Given the description of an element on the screen output the (x, y) to click on. 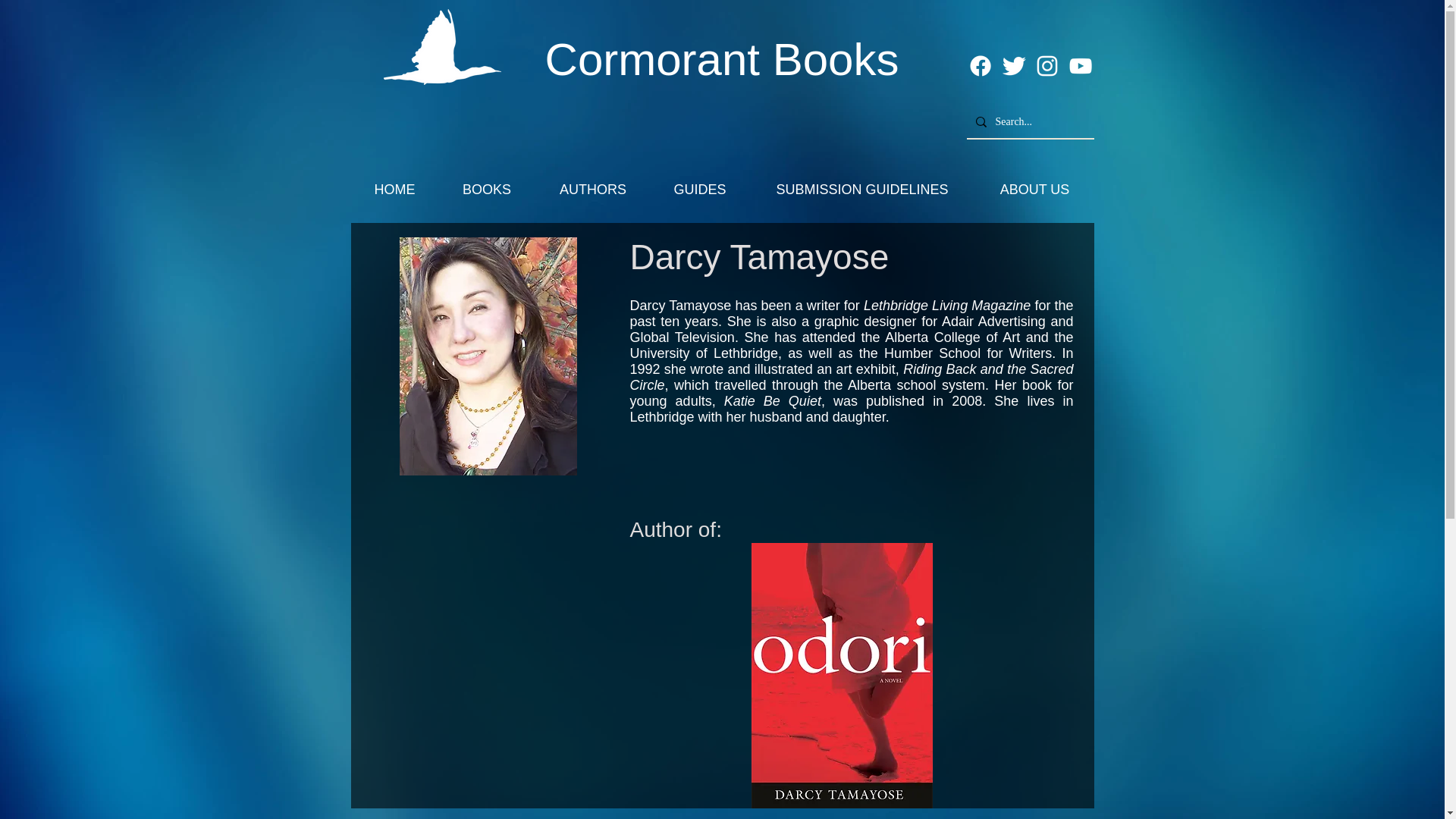
SUBMISSION GUIDELINES (862, 189)
GUIDES (699, 189)
HOME (394, 189)
ABOUT US (1034, 189)
BOOKS (486, 189)
AUTHORS (592, 189)
Cormorant Books (721, 59)
